Given the description of an element on the screen output the (x, y) to click on. 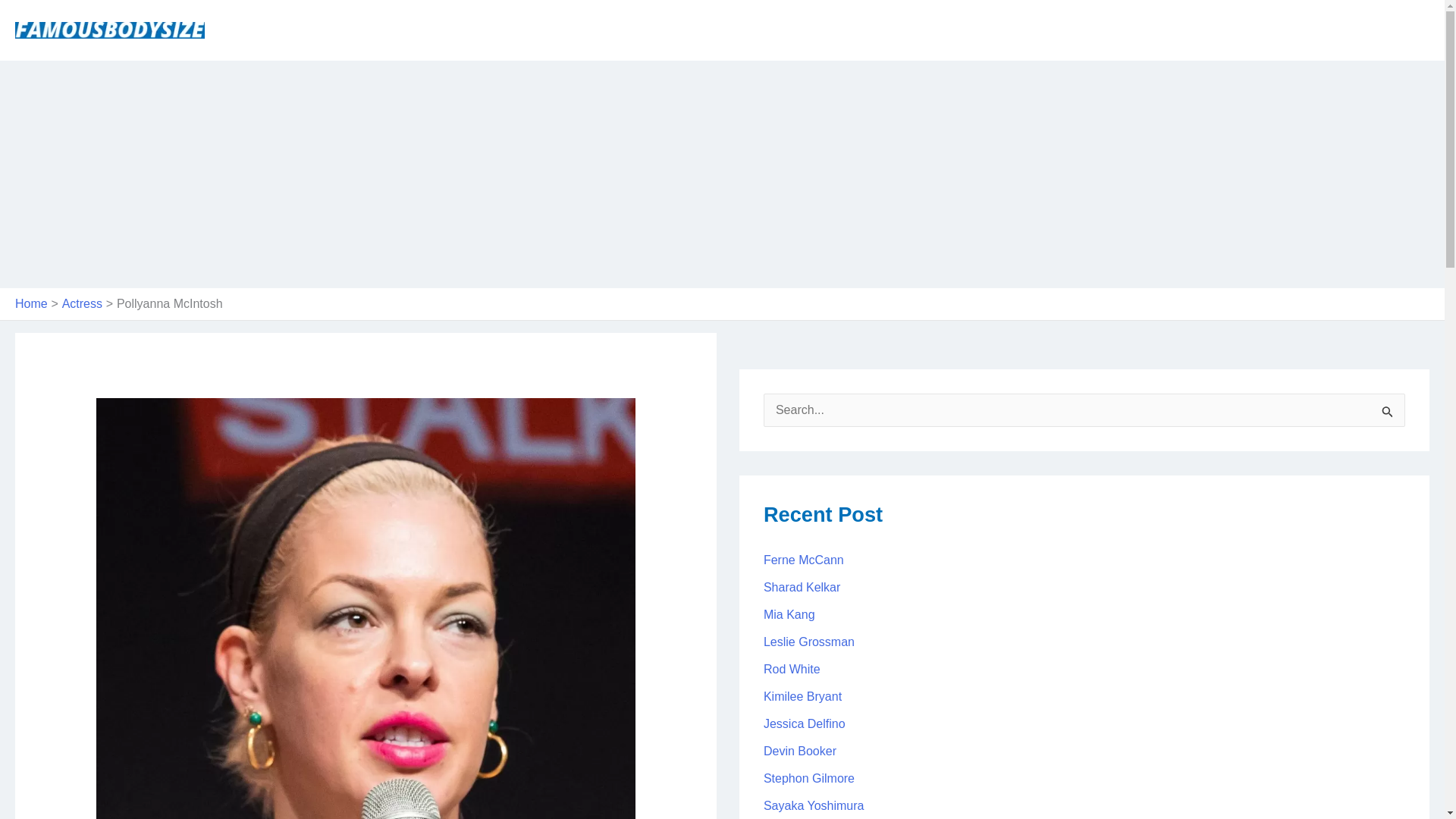
Rod White (791, 668)
Blogger (1393, 29)
Mia Kang (788, 614)
Home (857, 29)
Sayaka Yoshimura (813, 805)
Singer (987, 29)
Musician (1118, 29)
Kimilee Bryant (801, 696)
Sharad Kelkar (801, 586)
Actress (81, 303)
